Given the description of an element on the screen output the (x, y) to click on. 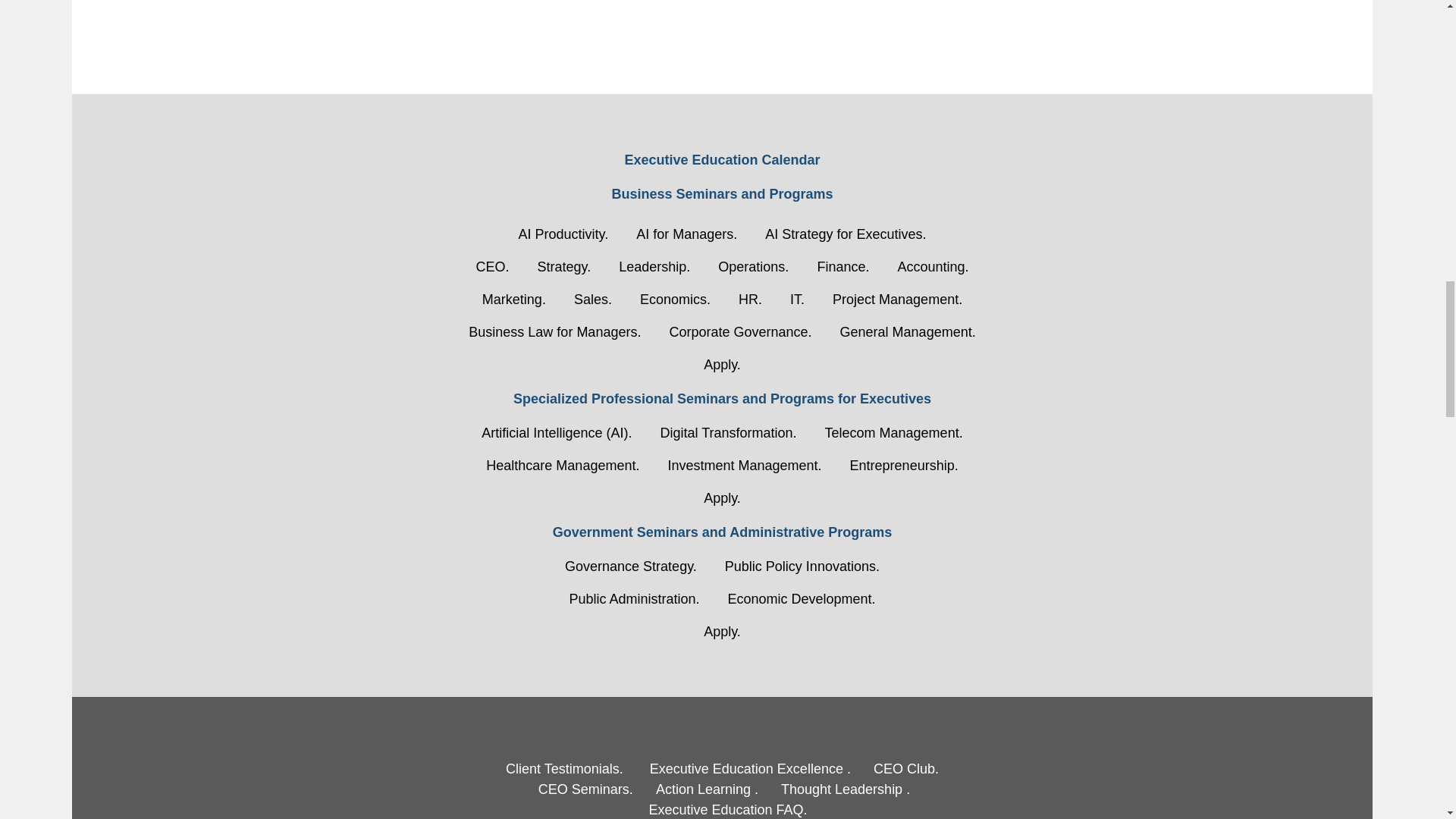
AI Strategy for Executives. (844, 234)
AI Productivity. (563, 234)
AI for Managers. (686, 234)
Executive Education Calendar (721, 159)
